Given the description of an element on the screen output the (x, y) to click on. 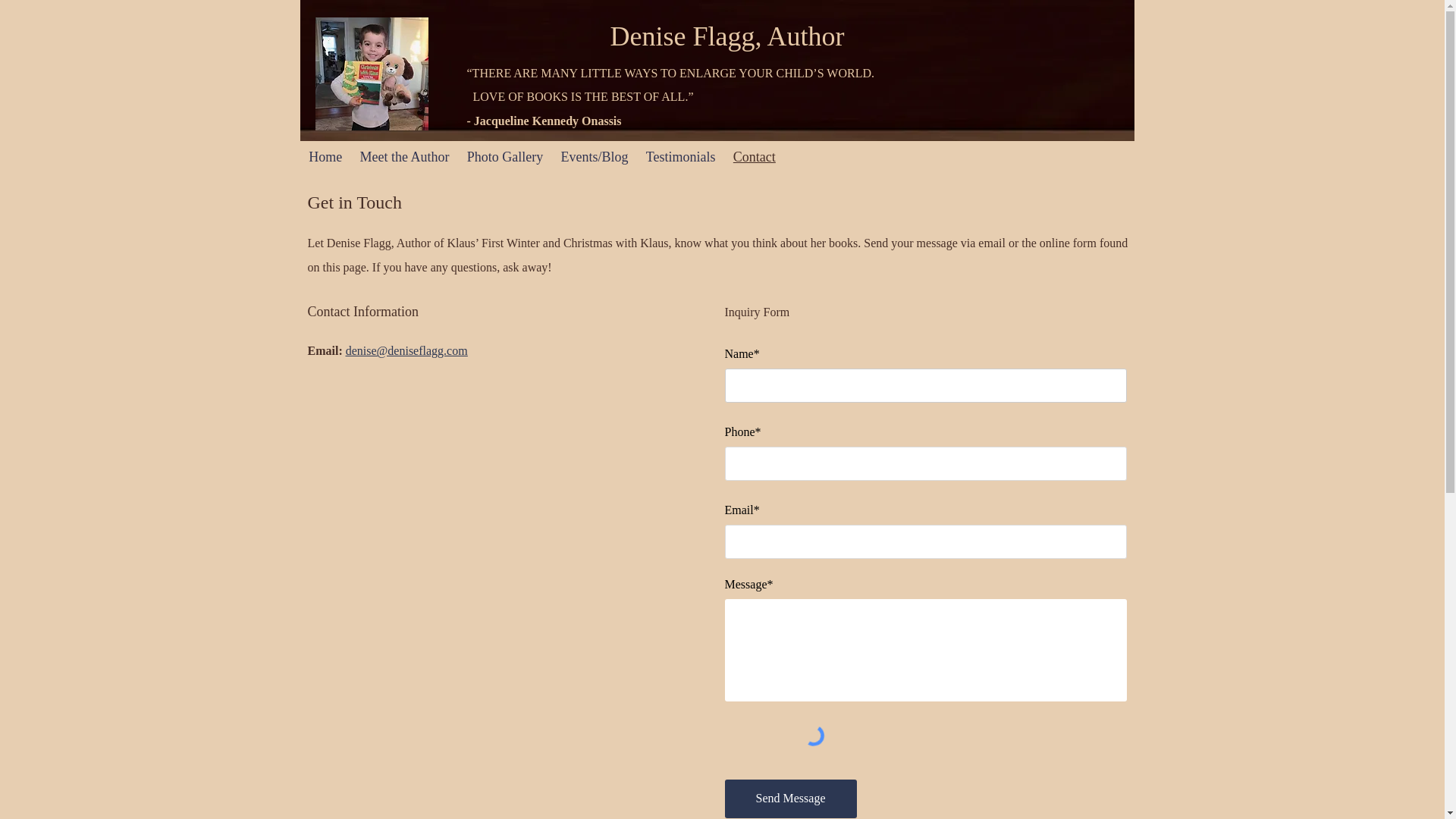
Testimonials (680, 156)
Home (324, 156)
Photo Gallery (504, 156)
Meet the Author (404, 156)
Send Message (791, 798)
Contact (753, 156)
